Given the description of an element on the screen output the (x, y) to click on. 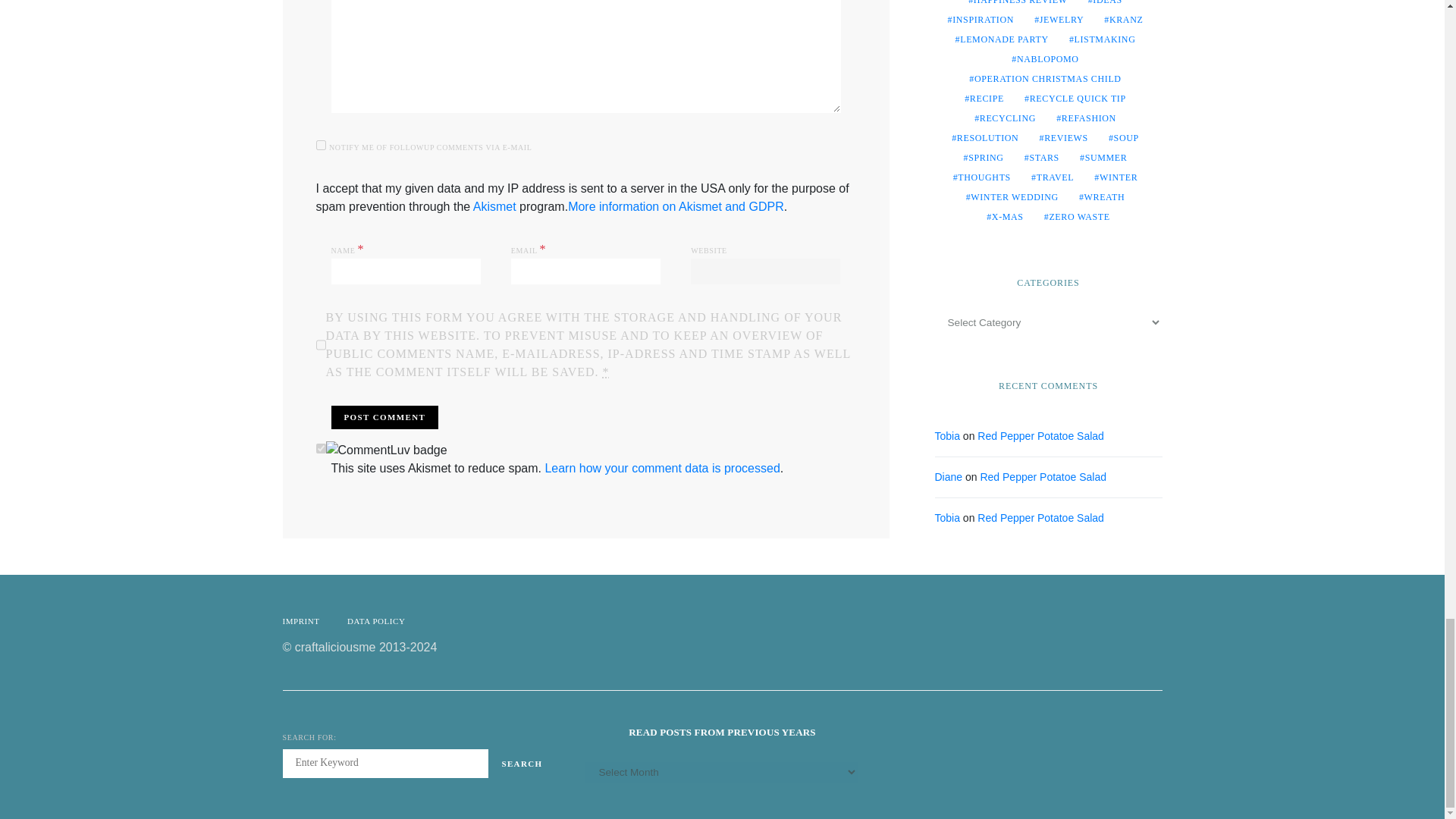
subscribe (319, 144)
Post Comment (384, 417)
on (319, 448)
